Given the description of an element on the screen output the (x, y) to click on. 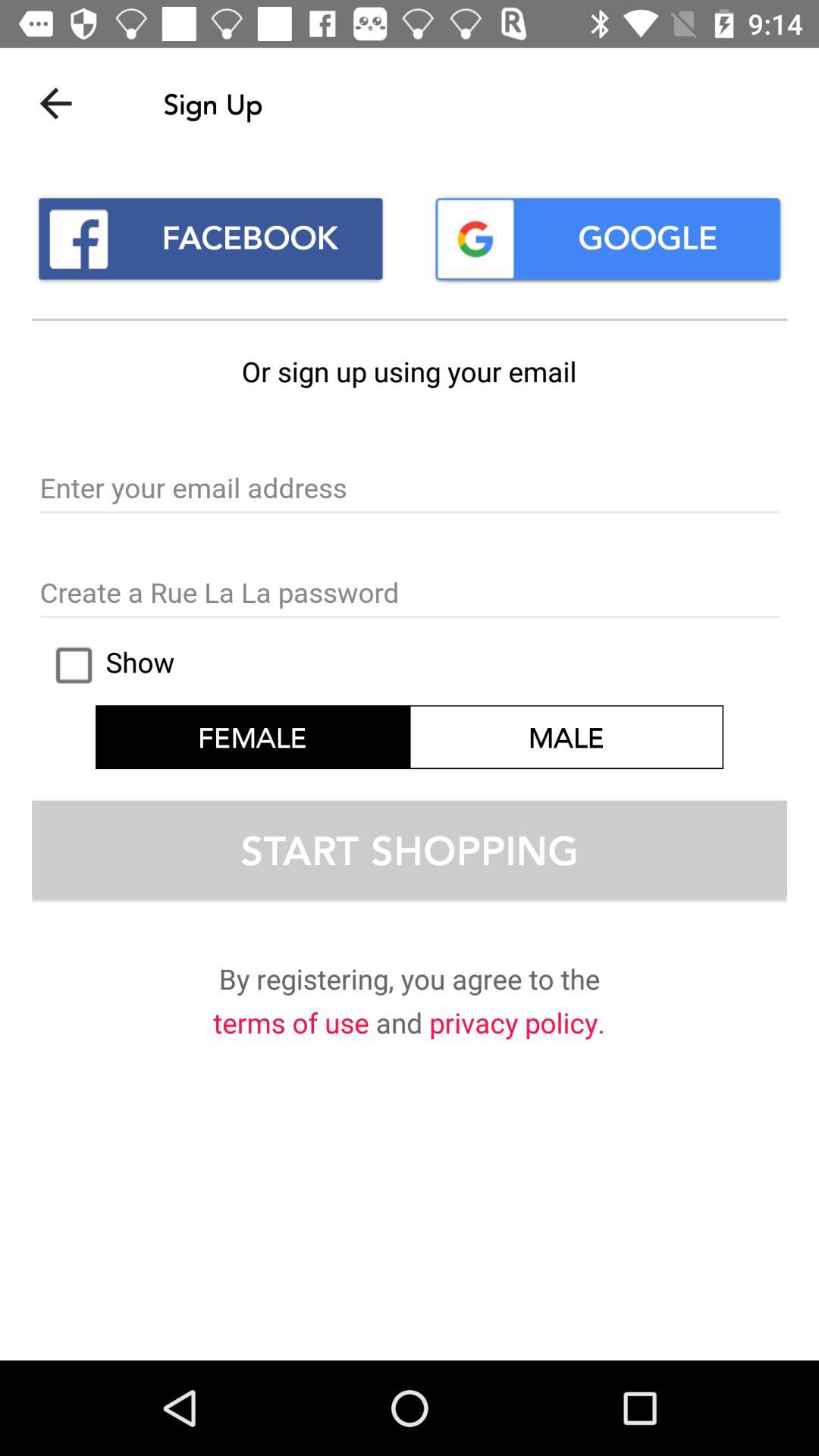
enter your email address (409, 488)
